Given the description of an element on the screen output the (x, y) to click on. 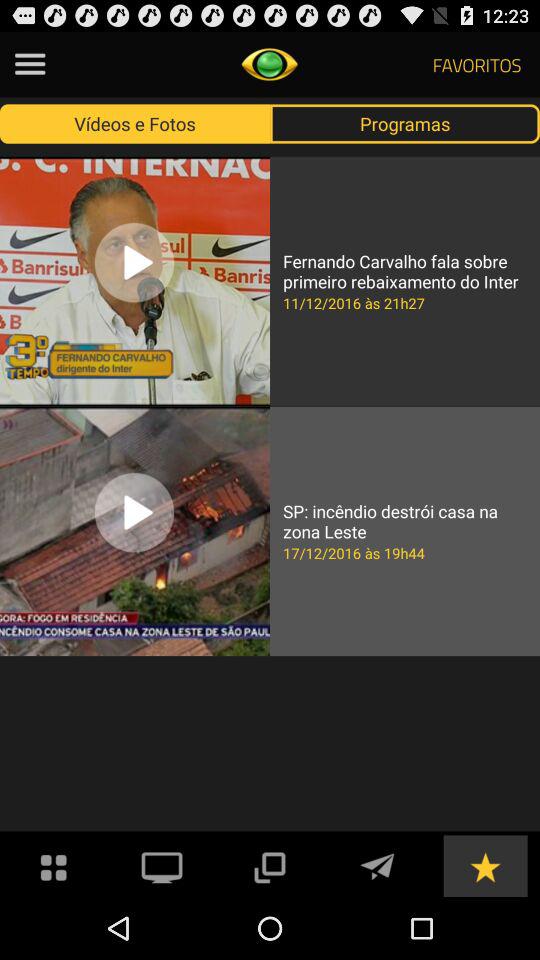
open video in small window (269, 865)
